Given the description of an element on the screen output the (x, y) to click on. 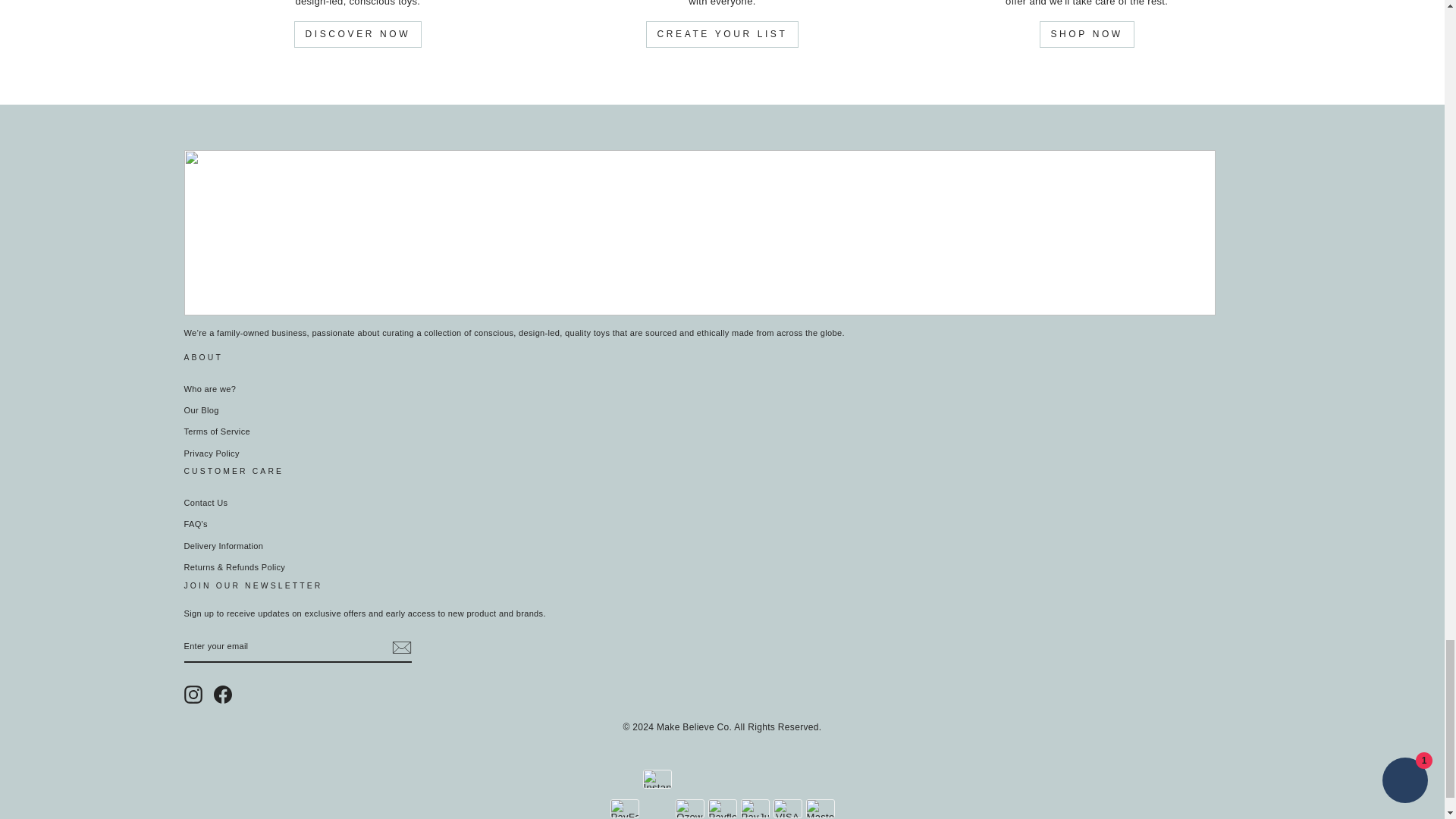
Make Believe Co. on Instagram (192, 694)
Make Believe Co. on Facebook (222, 694)
